Given the description of an element on the screen output the (x, y) to click on. 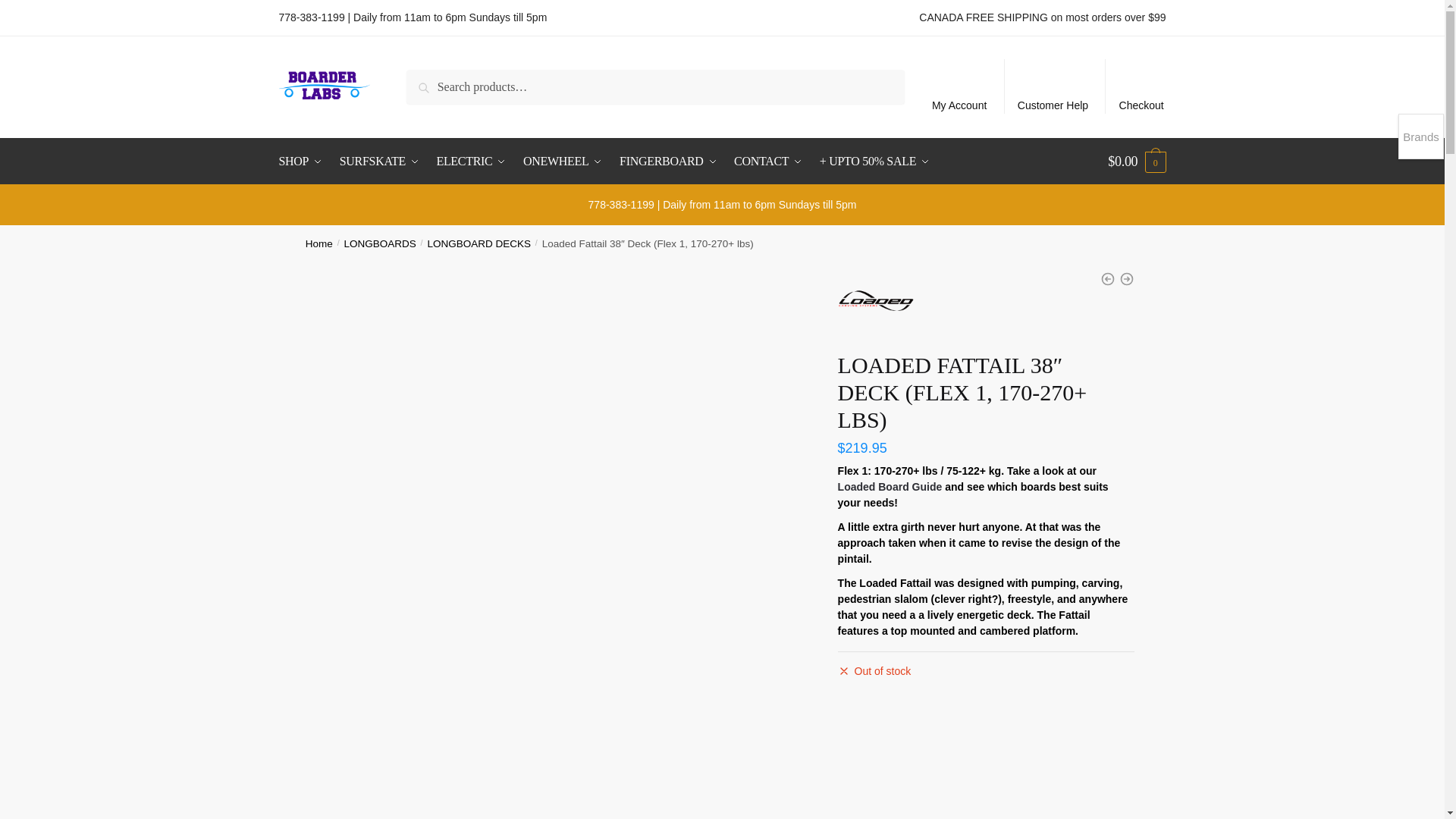
Search (427, 79)
Checkout (1141, 86)
My Account (959, 86)
Customer Help (1053, 86)
View your shopping cart (1137, 161)
SHOP (304, 161)
